Given the description of an element on the screen output the (x, y) to click on. 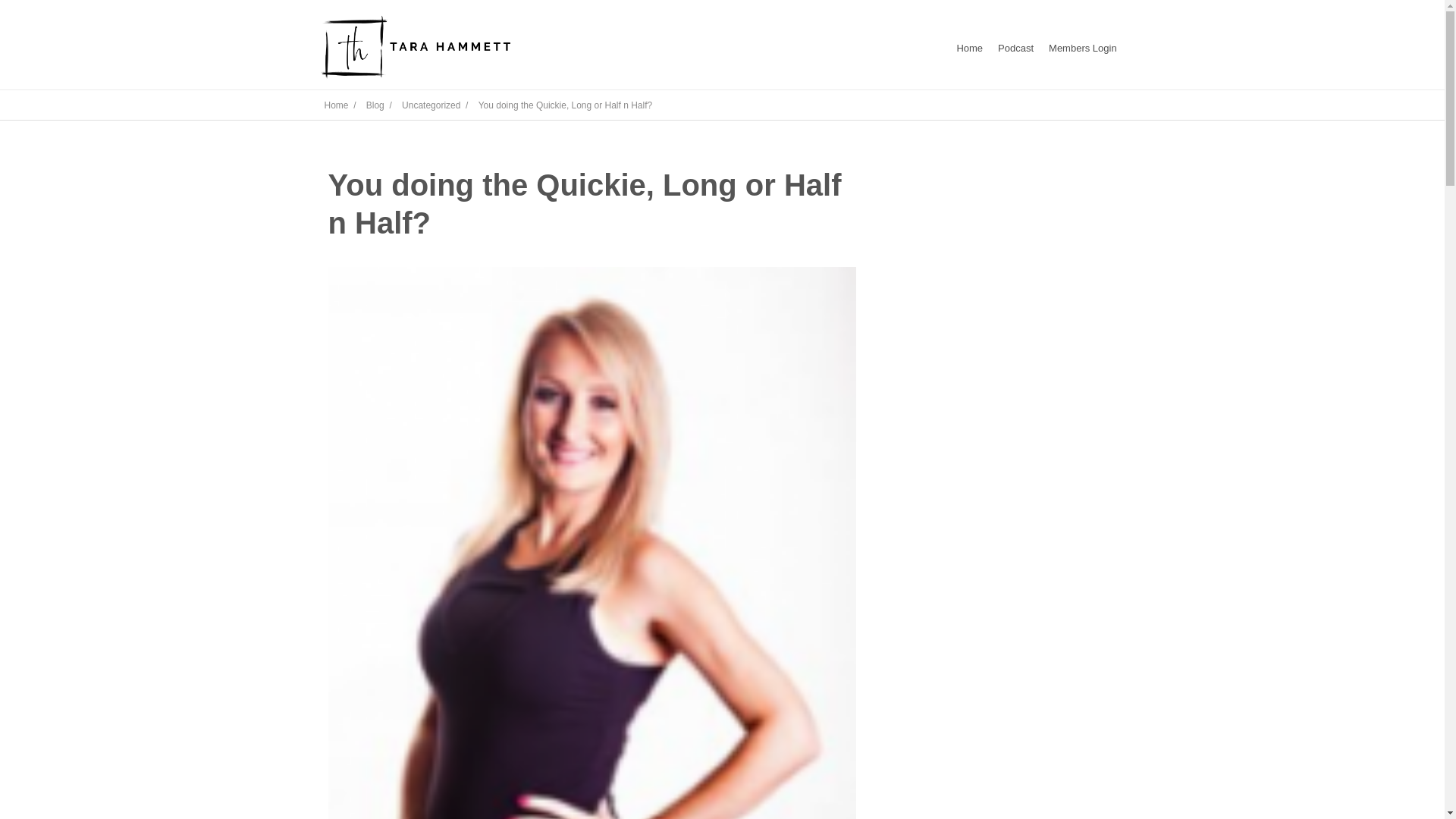
Podcast (1015, 48)
Home (969, 48)
Members Login (1082, 48)
